Given the description of an element on the screen output the (x, y) to click on. 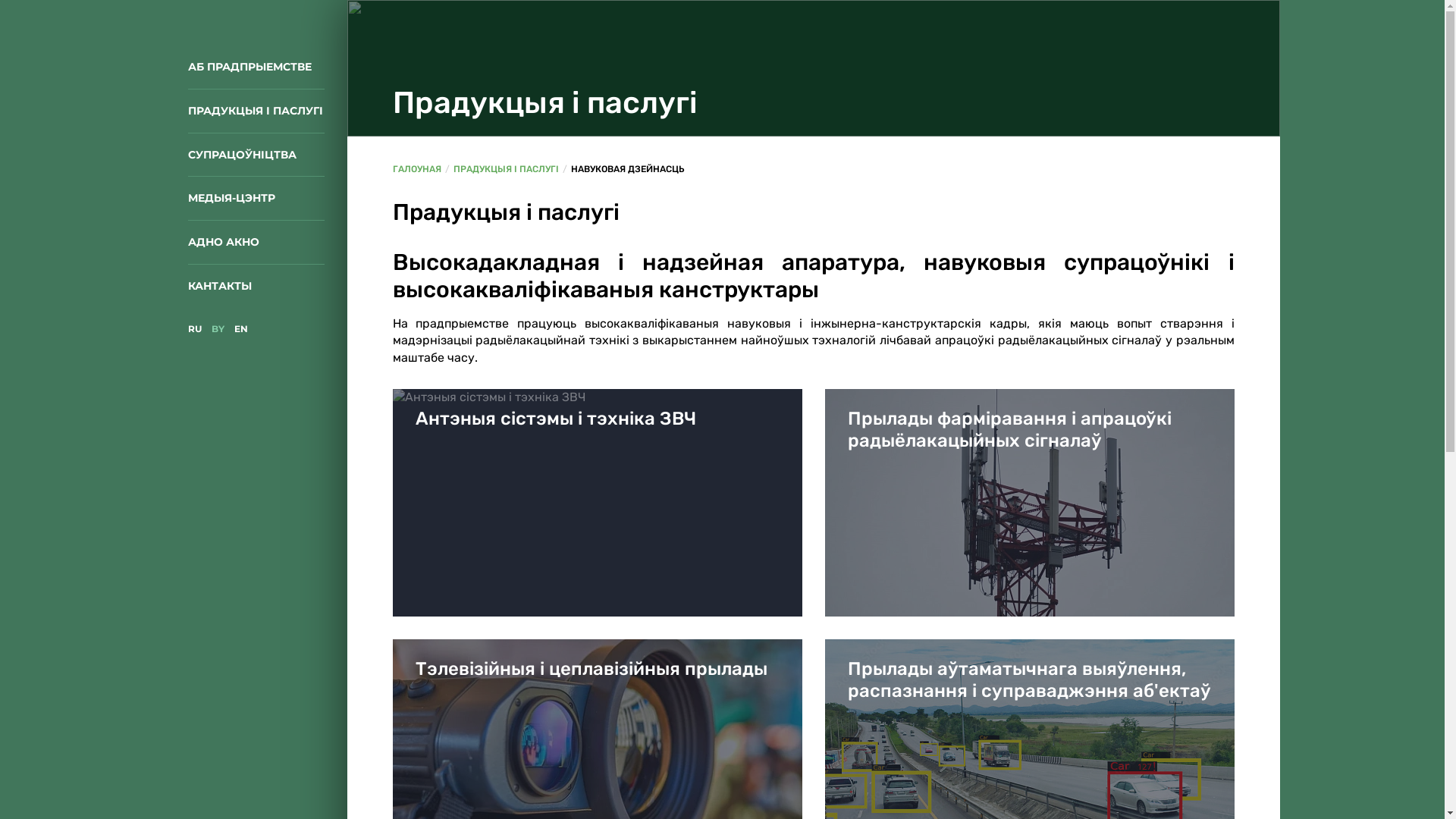
EN Element type: text (240, 328)
RU Element type: text (194, 328)
